Given the description of an element on the screen output the (x, y) to click on. 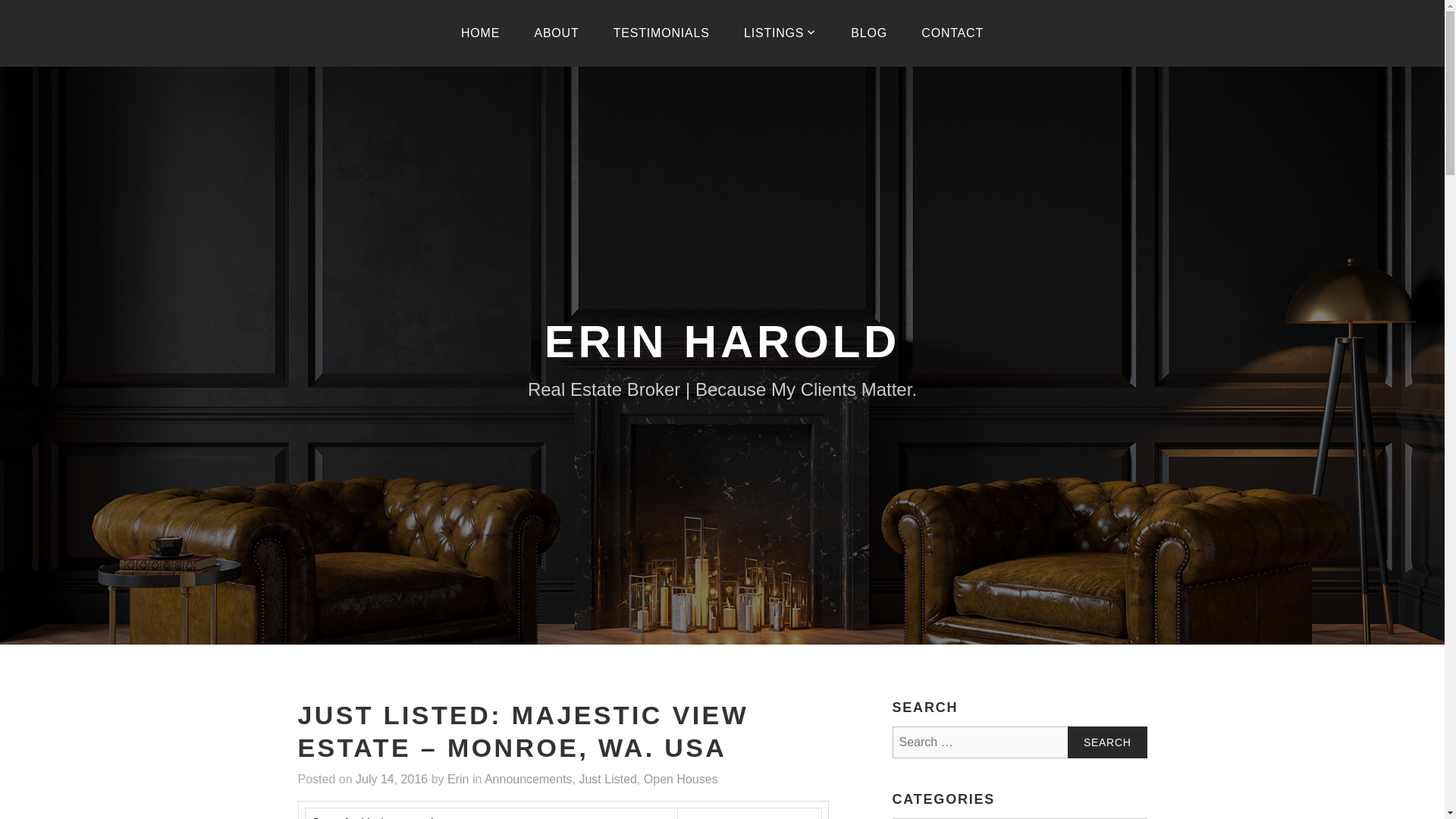
TESTIMONIALS (661, 33)
HOME (480, 33)
BLOG (868, 33)
Search (1107, 742)
Announcements (528, 779)
Search (1107, 742)
Just Listed (607, 779)
July 14, 2016 (391, 779)
ABOUT (556, 33)
LISTINGS (780, 33)
Erin (457, 779)
Open Houses (680, 779)
CONTACT (951, 33)
ERIN HAROLD (721, 341)
